Given the description of an element on the screen output the (x, y) to click on. 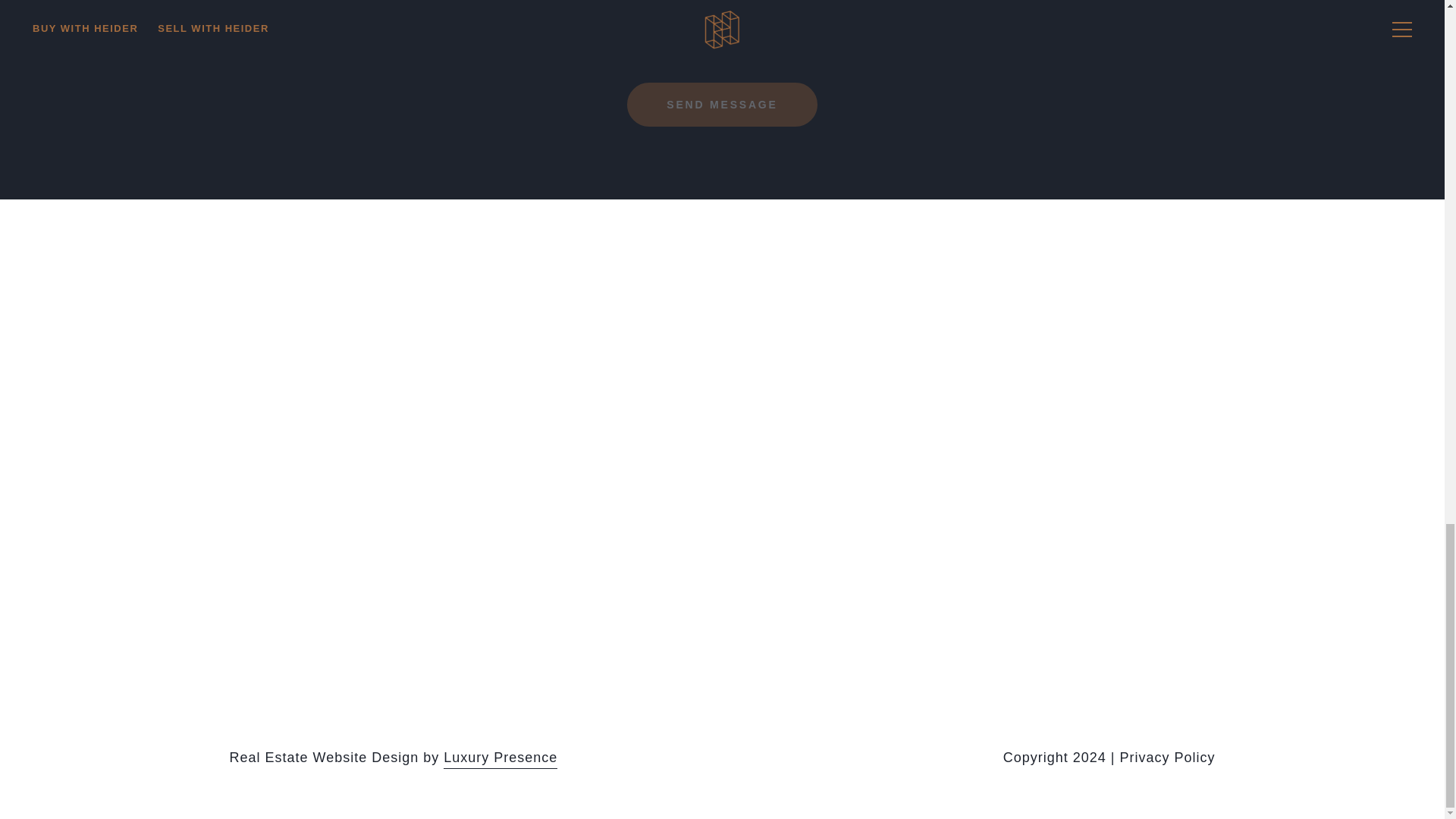
SUBMIT (721, 104)
